Given the description of an element on the screen output the (x, y) to click on. 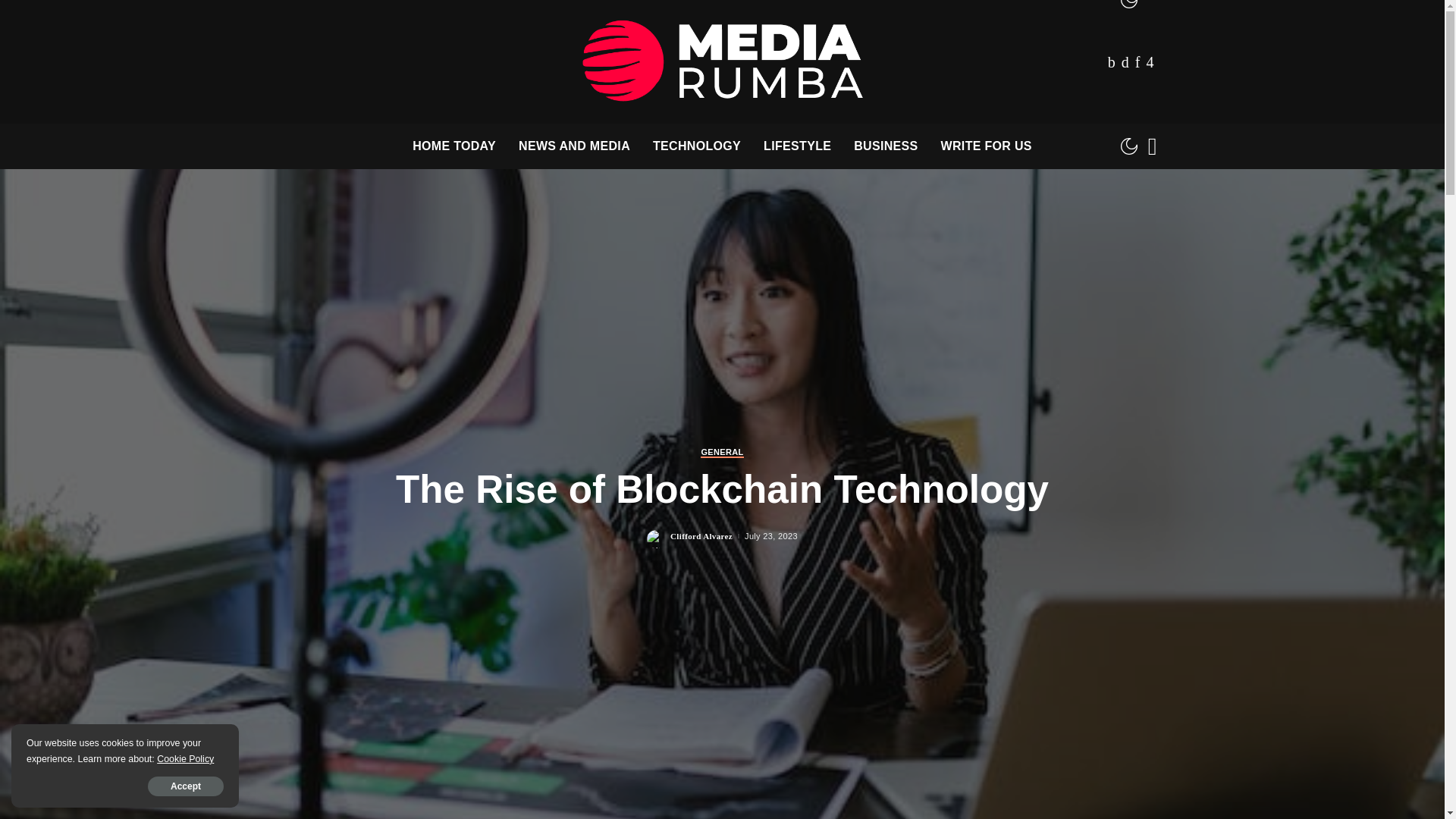
HOME TODAY (453, 145)
Search (1140, 189)
WRITE FOR US (986, 145)
Media Rumba (722, 61)
NEWS AND MEDIA (574, 145)
TECHNOLOGY (697, 145)
BUSINESS (885, 145)
LIFESTYLE (797, 145)
